Given the description of an element on the screen output the (x, y) to click on. 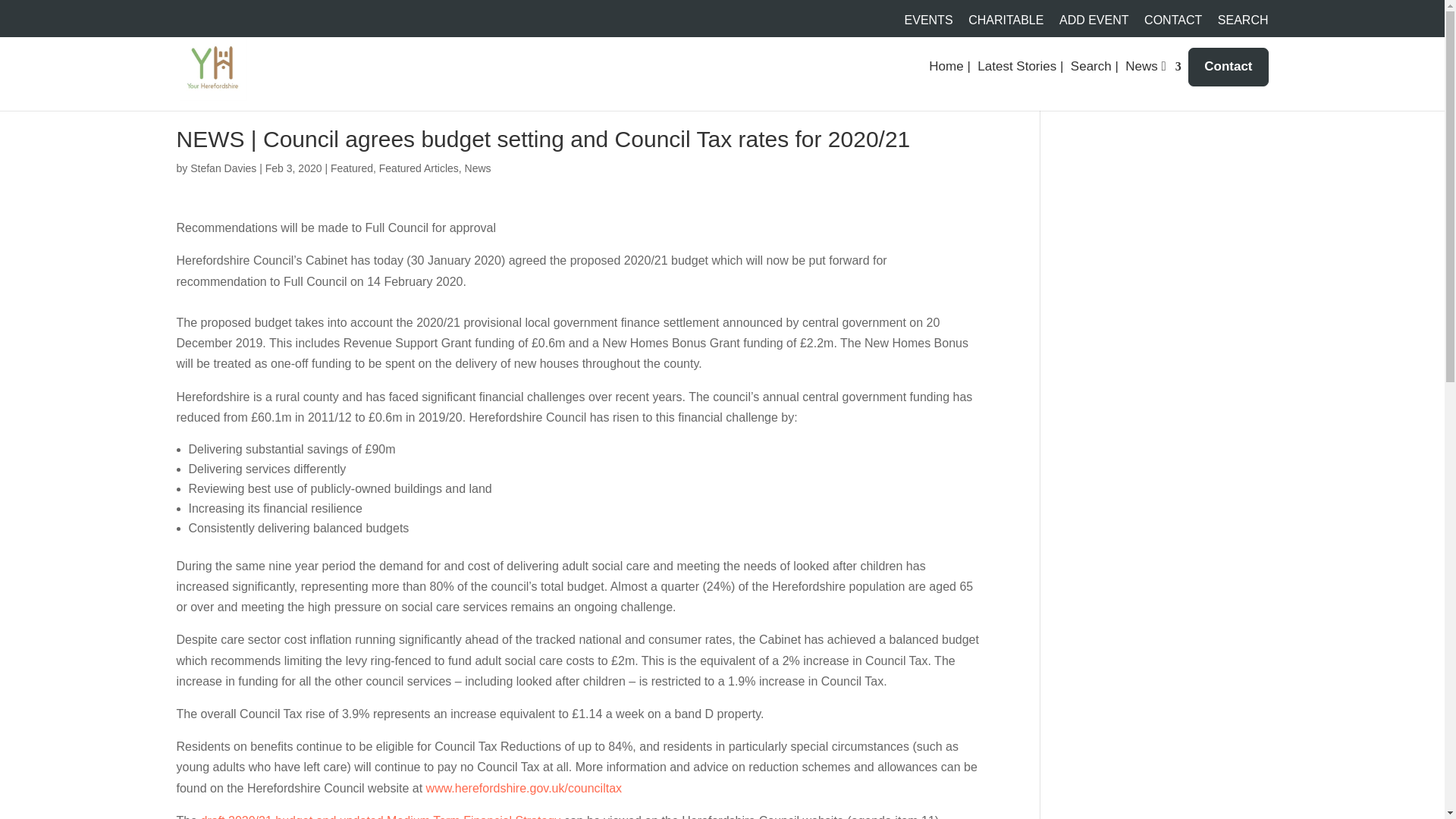
Featured (351, 168)
CHARITABLE (1005, 24)
SEARCH (1242, 24)
CONTACT (1173, 24)
ADD EVENT (1094, 24)
Posts by Stefan Davies (223, 168)
Stefan Davies (223, 168)
News (478, 168)
Contact (1228, 66)
Featured Articles (418, 168)
